Given the description of an element on the screen output the (x, y) to click on. 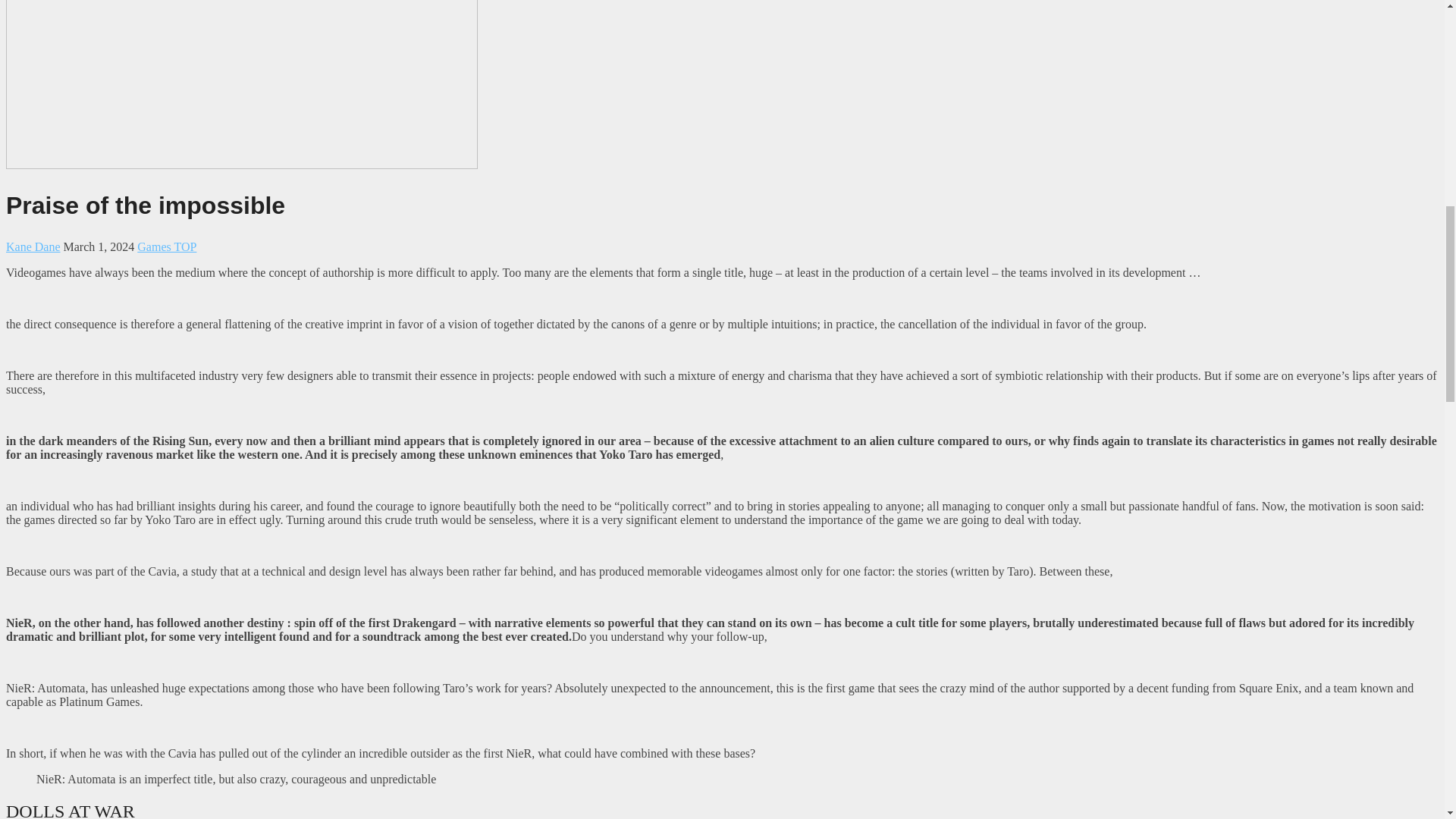
View all posts in Games TOP (166, 246)
Posts by Kane Dane (33, 246)
